Given the description of an element on the screen output the (x, y) to click on. 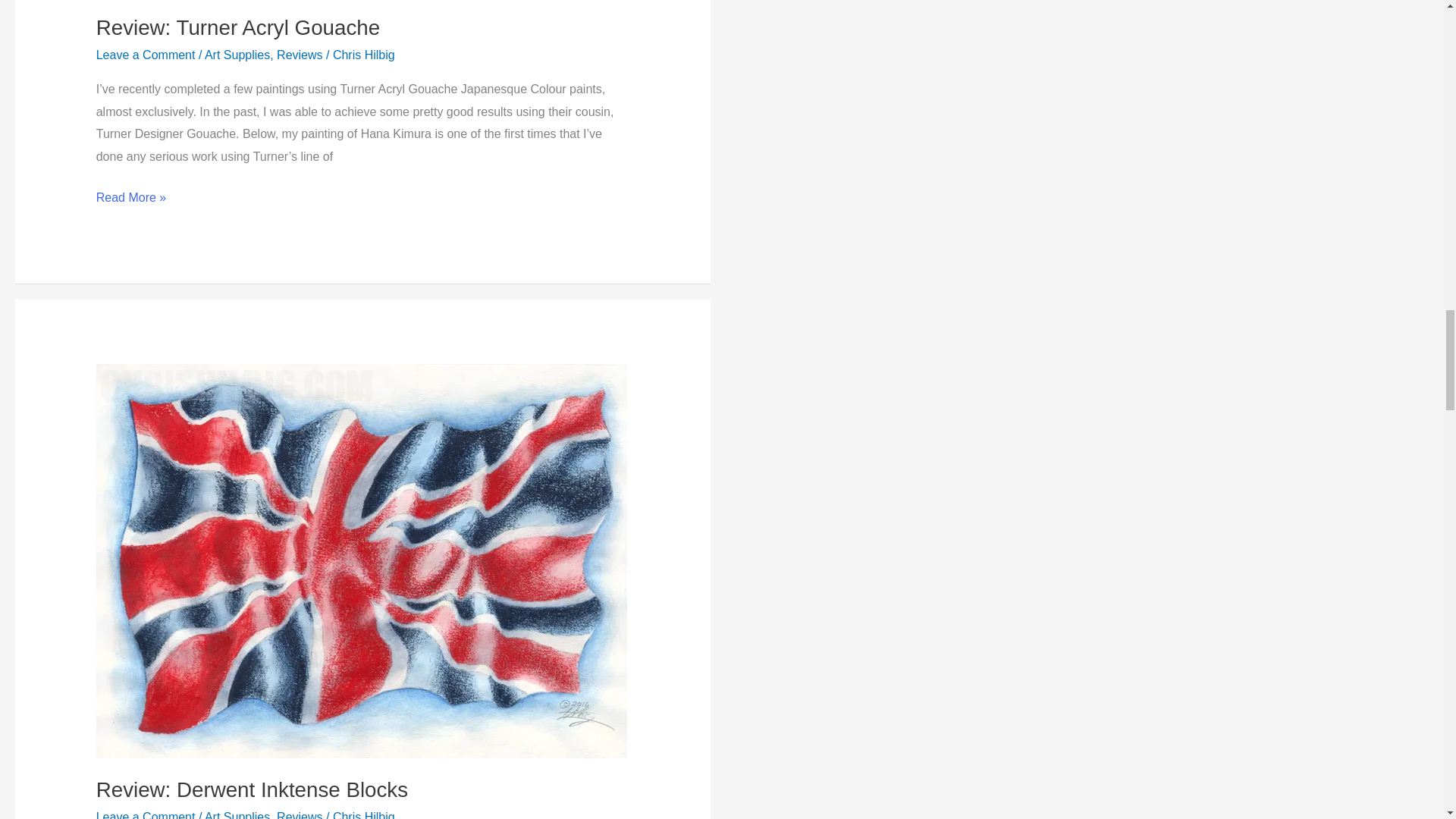
View all posts by Chris Hilbig (363, 54)
View all posts by Chris Hilbig (363, 814)
